Given the description of an element on the screen output the (x, y) to click on. 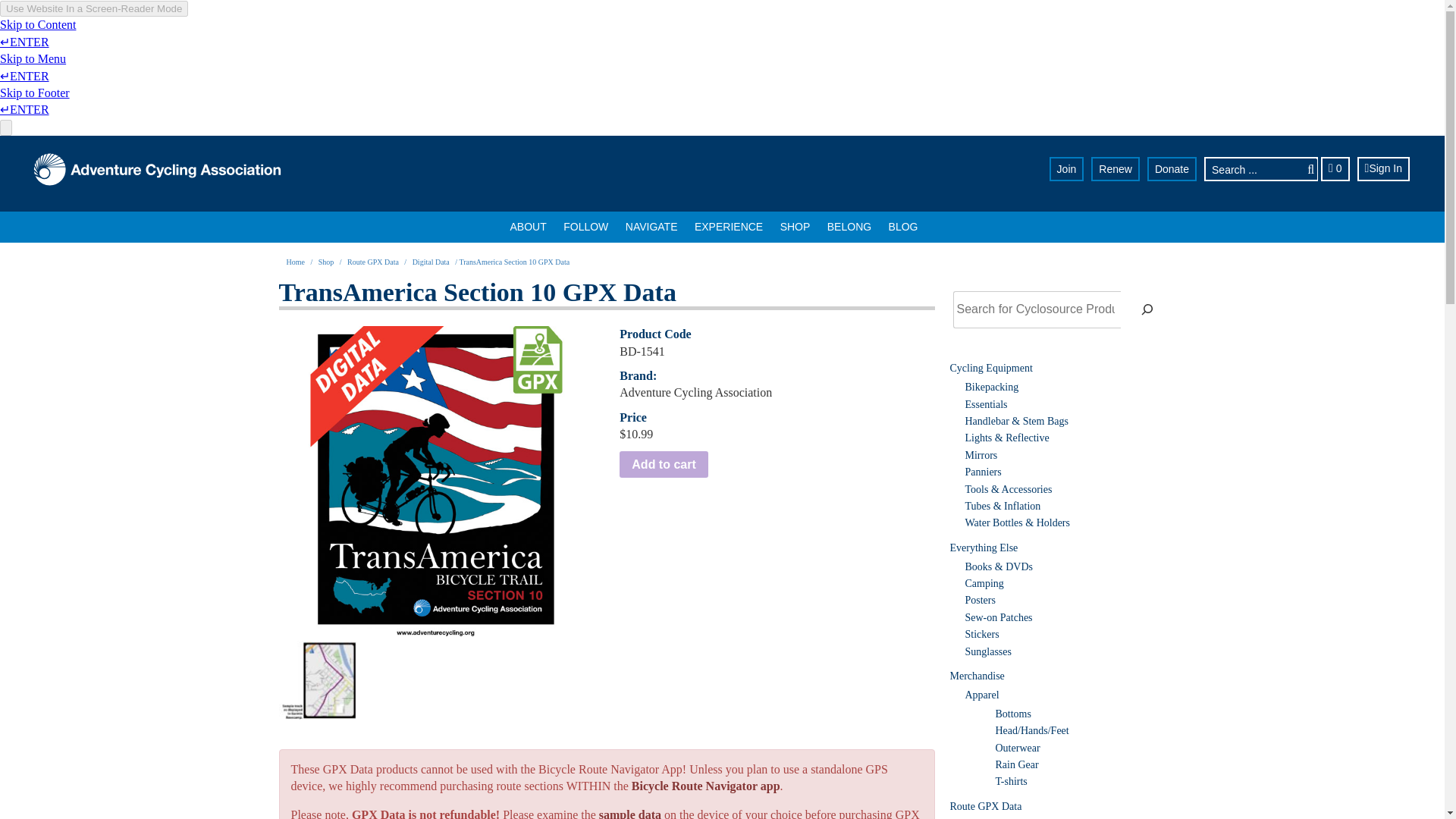
0 (1334, 168)
EXPERIENCE (728, 226)
Adventure Cycling Association (156, 170)
Join (1066, 168)
FOLLOW (585, 226)
Donate (1171, 168)
Sign In (1382, 168)
Renew (1115, 168)
ABOUT (528, 226)
NAVIGATE (651, 226)
